Given the description of an element on the screen output the (x, y) to click on. 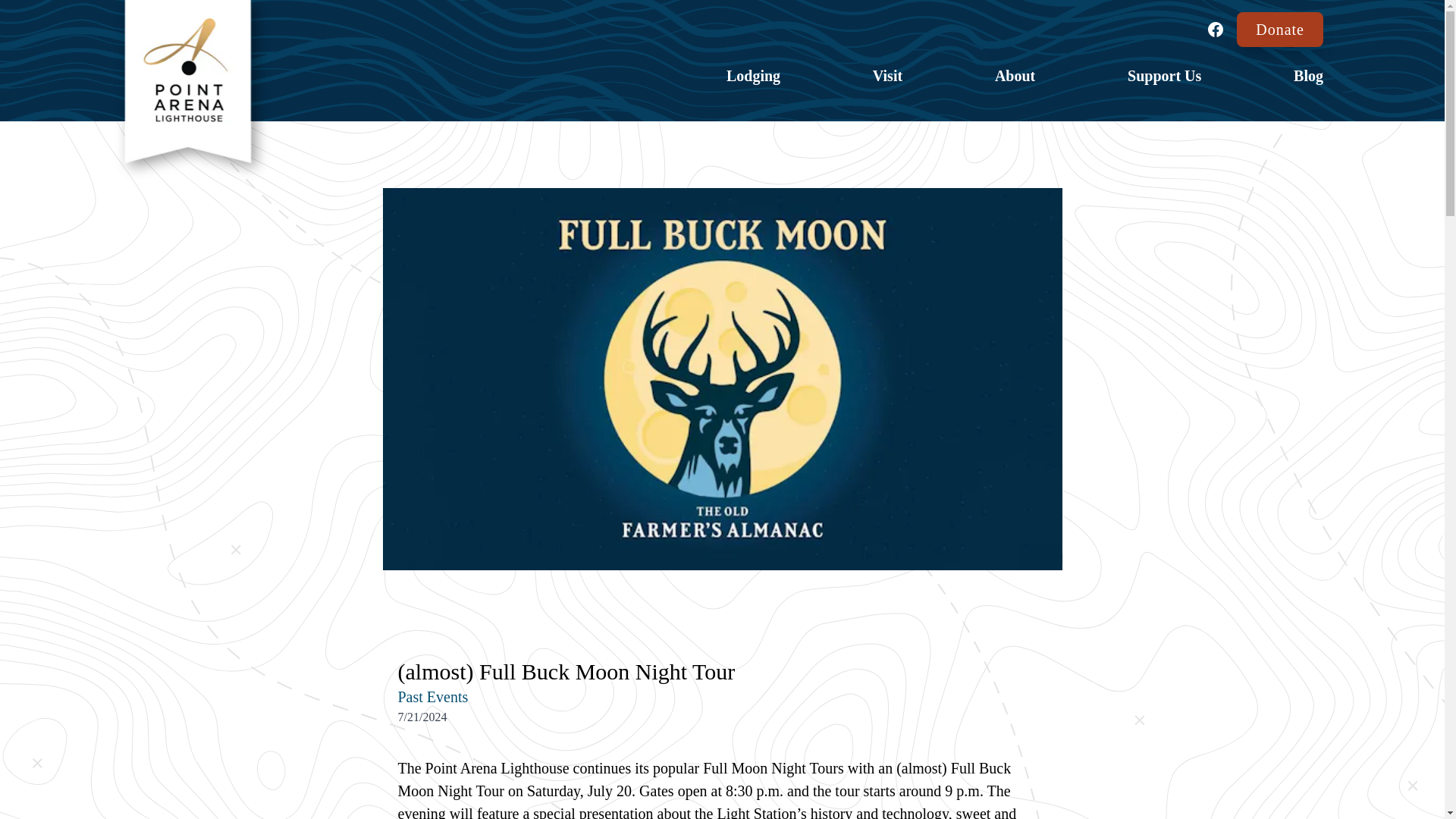
Visit (887, 75)
Facebook (1215, 29)
Support Us (1163, 75)
Lodging (753, 75)
About (1014, 75)
Donate (1279, 29)
Blog (1308, 75)
